Given the description of an element on the screen output the (x, y) to click on. 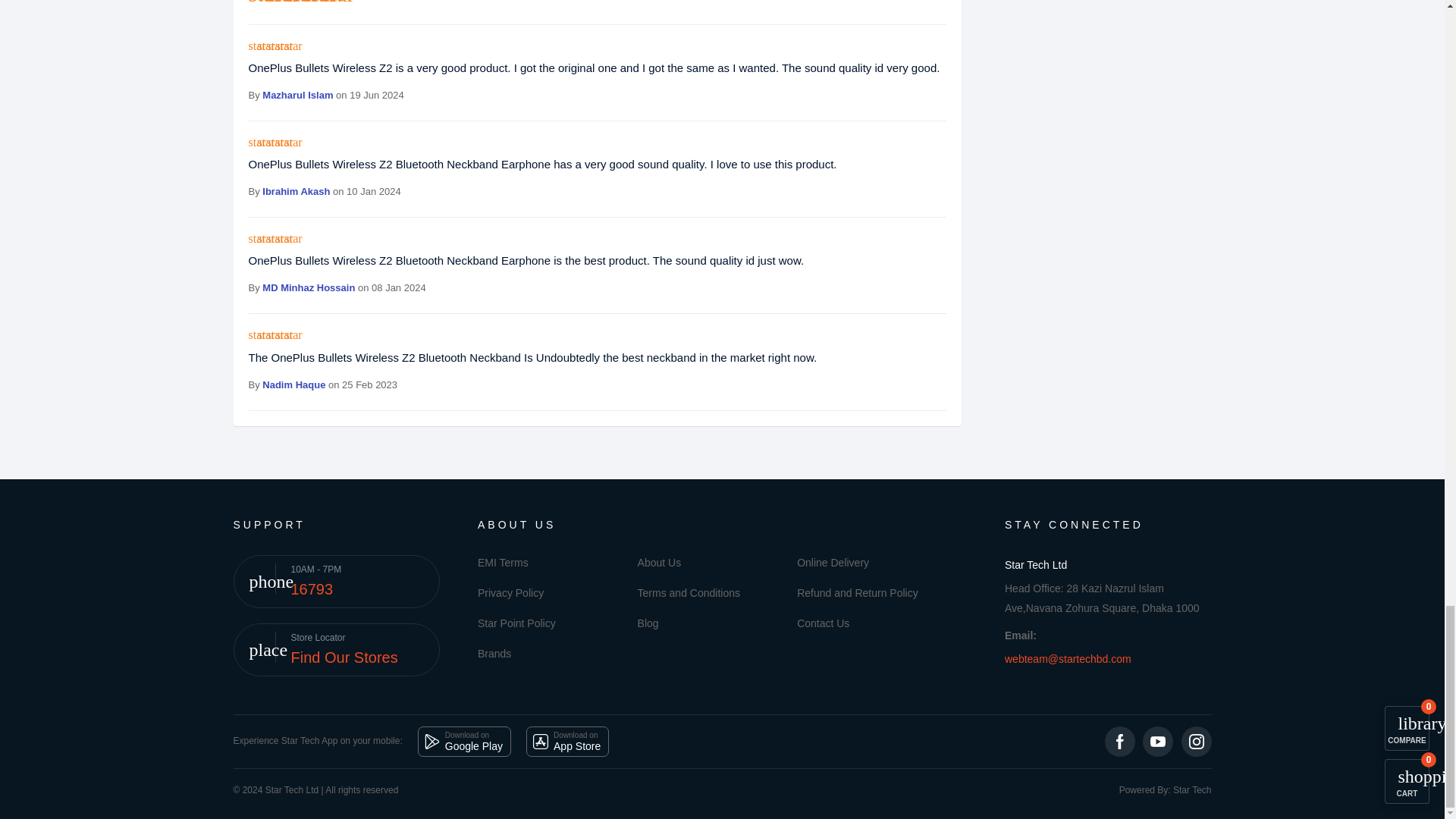
Star Tech Android APP (464, 741)
Facebook (1120, 741)
Youtube (1157, 741)
Star Tech ISO APP (566, 741)
Instagram (1195, 741)
